Given the description of an element on the screen output the (x, y) to click on. 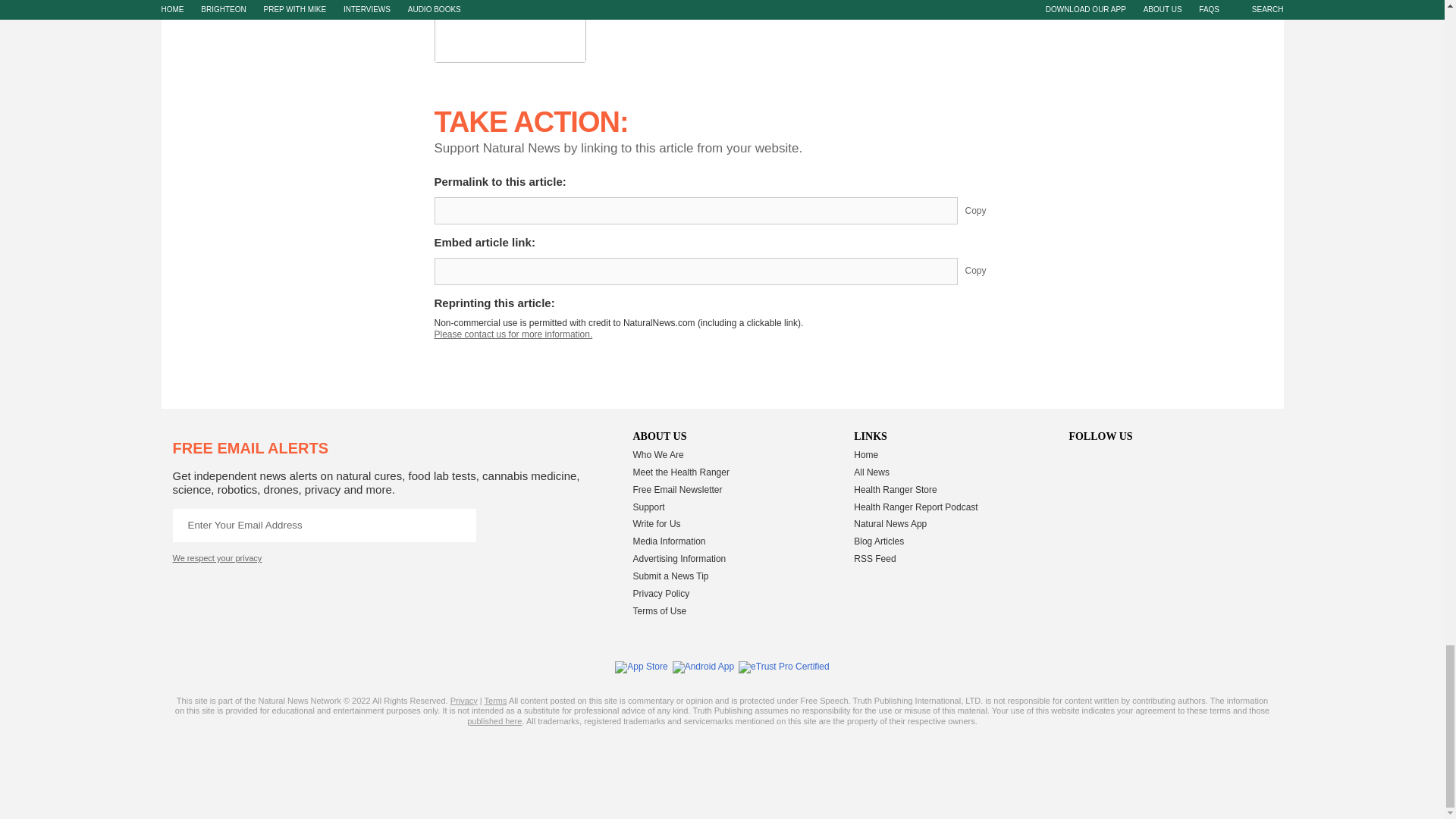
Continue (459, 525)
Copy Embed Link (986, 271)
Copy Permalink (986, 210)
eTrust Pro Certified (783, 666)
